Given the description of an element on the screen output the (x, y) to click on. 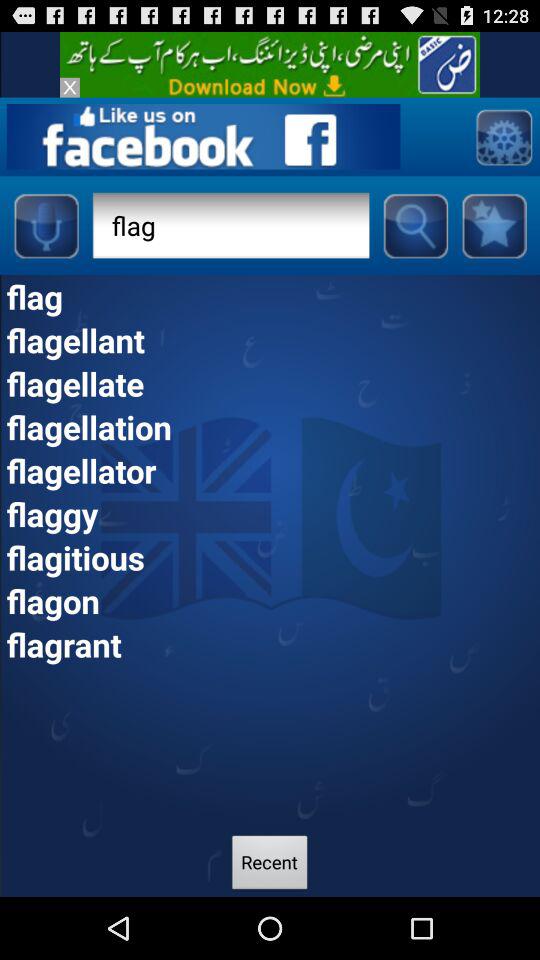
search with voice (45, 225)
